Given the description of an element on the screen output the (x, y) to click on. 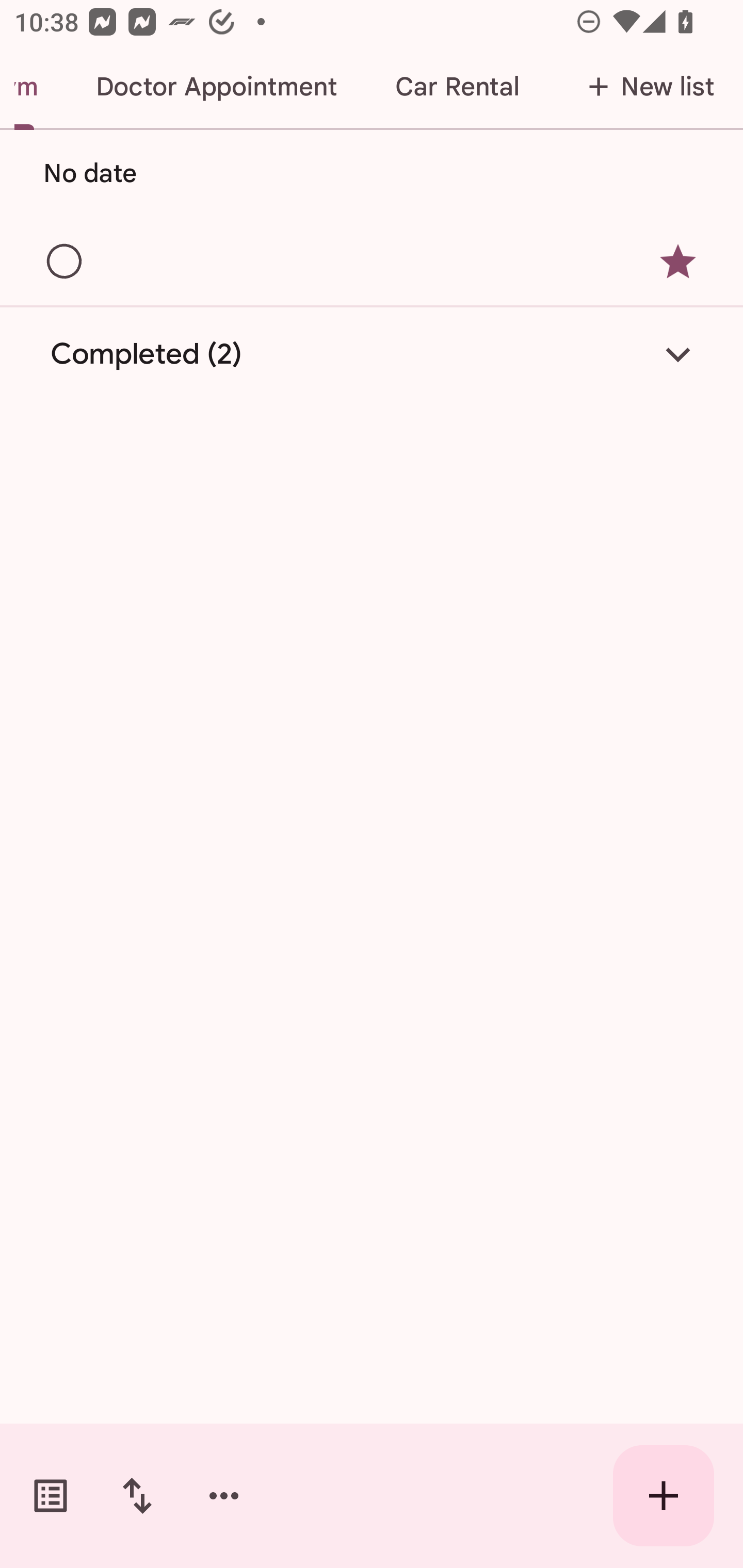
Doctor Appointment (215, 86)
Car Rental (456, 86)
New list (645, 86)
Remove star (677, 261)
Mark as complete (64, 261)
Completed (2) (371, 354)
Switch task lists (50, 1495)
Create new task (663, 1495)
Change sort order (136, 1495)
More options (223, 1495)
